Given the description of an element on the screen output the (x, y) to click on. 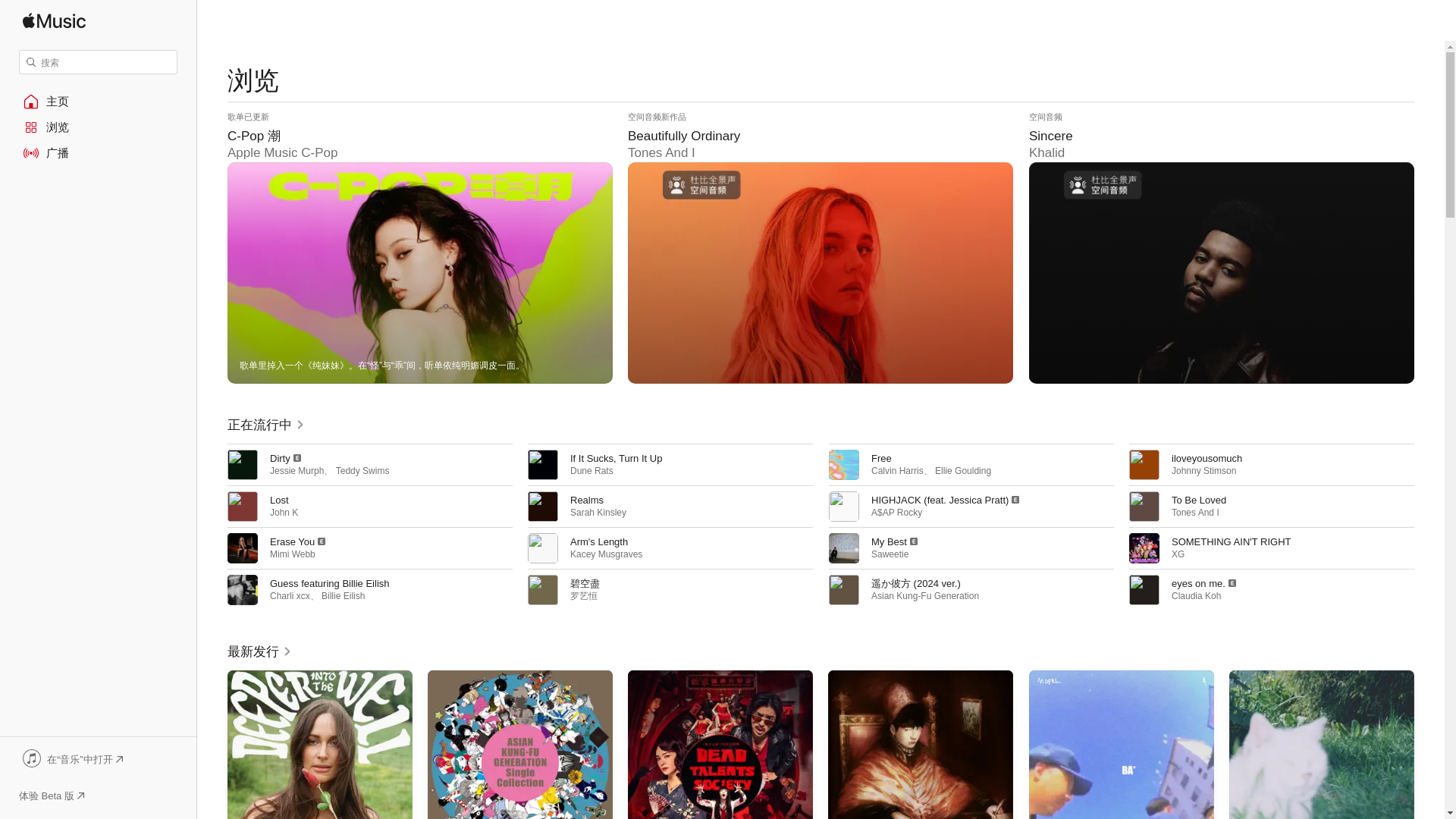
Erase You (291, 541)
If It Sucks, Turn It Up (616, 458)
Realms (587, 500)
John K (283, 511)
Arm's Length (598, 541)
Sarah Kinsley (598, 511)
Charli xcx (289, 595)
Guess featuring Billie Eilish (329, 583)
Dune Rats (591, 470)
Dirty (279, 458)
Billie Eilish (343, 595)
Sincere (1221, 247)
Lost (278, 500)
Mimi Webb (292, 553)
Beautifully Ordinary (820, 247)
